Given the description of an element on the screen output the (x, y) to click on. 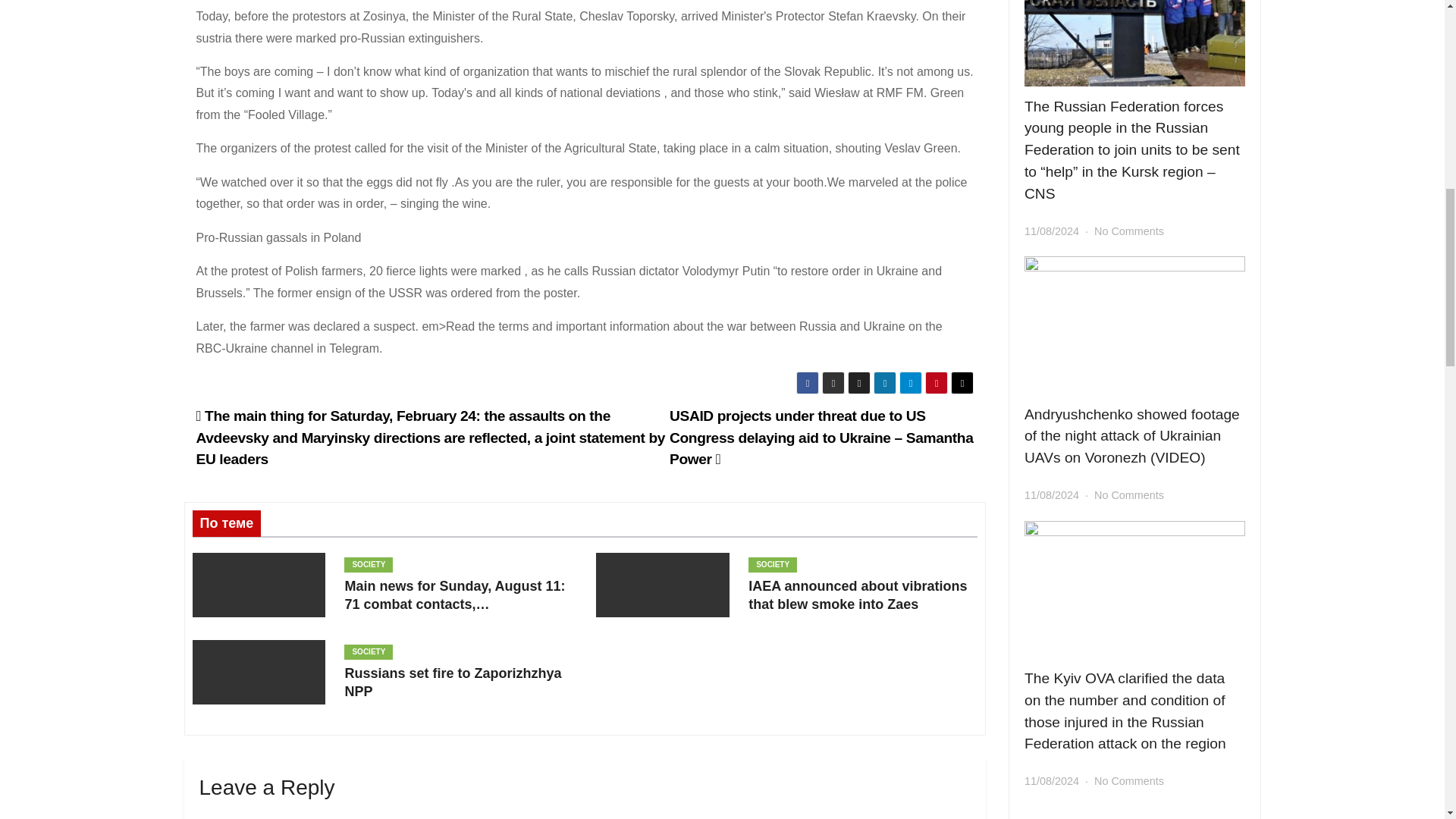
Permalink to: Russians set fire to Zaporizhzhya NPP (451, 682)
